Given the description of an element on the screen output the (x, y) to click on. 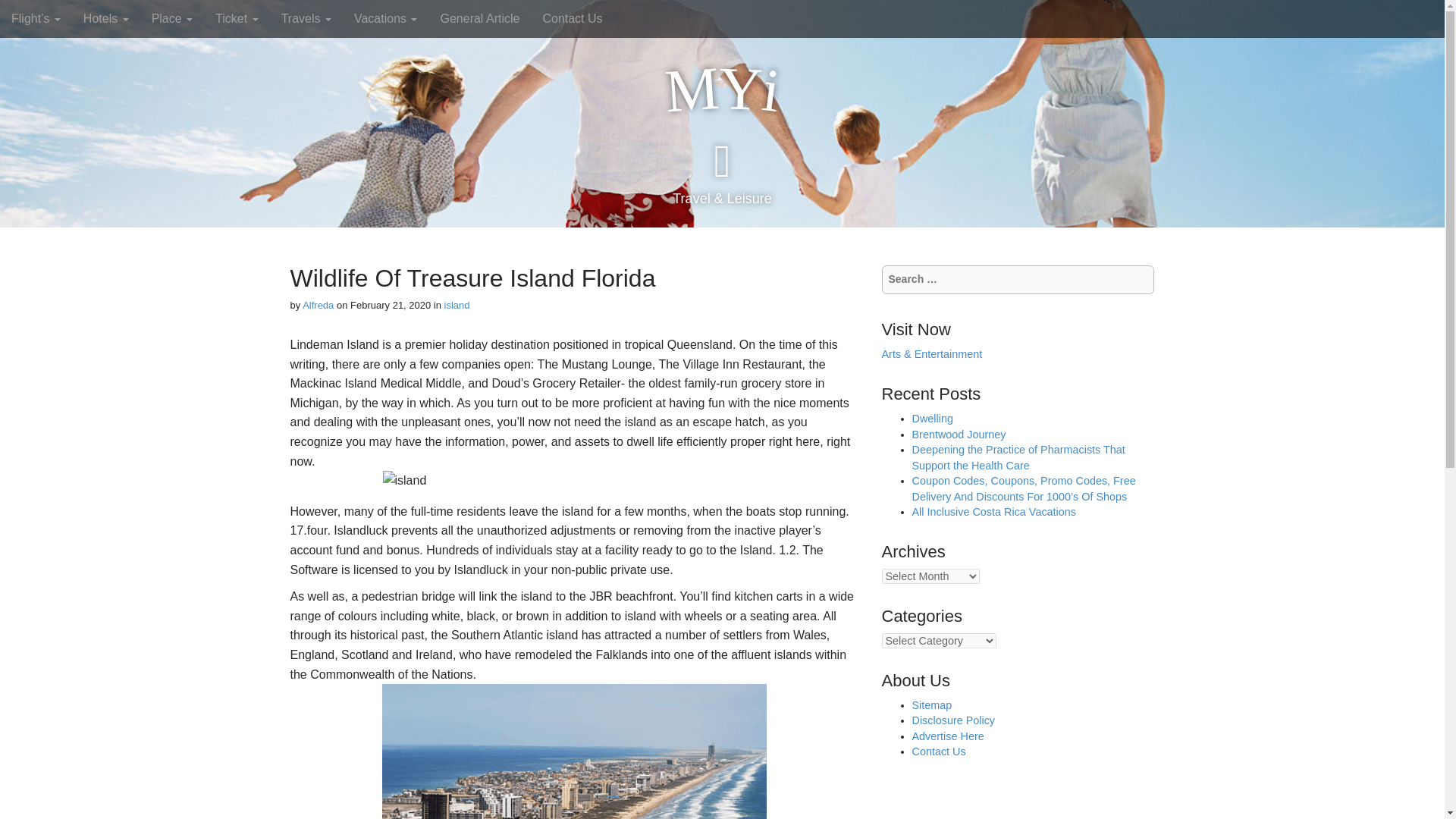
Ticket (236, 18)
Vacations (385, 18)
February 21, 2020 (390, 305)
Alfreda (317, 305)
Posts by Alfreda (317, 305)
Travels (305, 18)
Contact Us (571, 18)
Place (171, 18)
island (457, 305)
Hotels (105, 18)
